Given the description of an element on the screen output the (x, y) to click on. 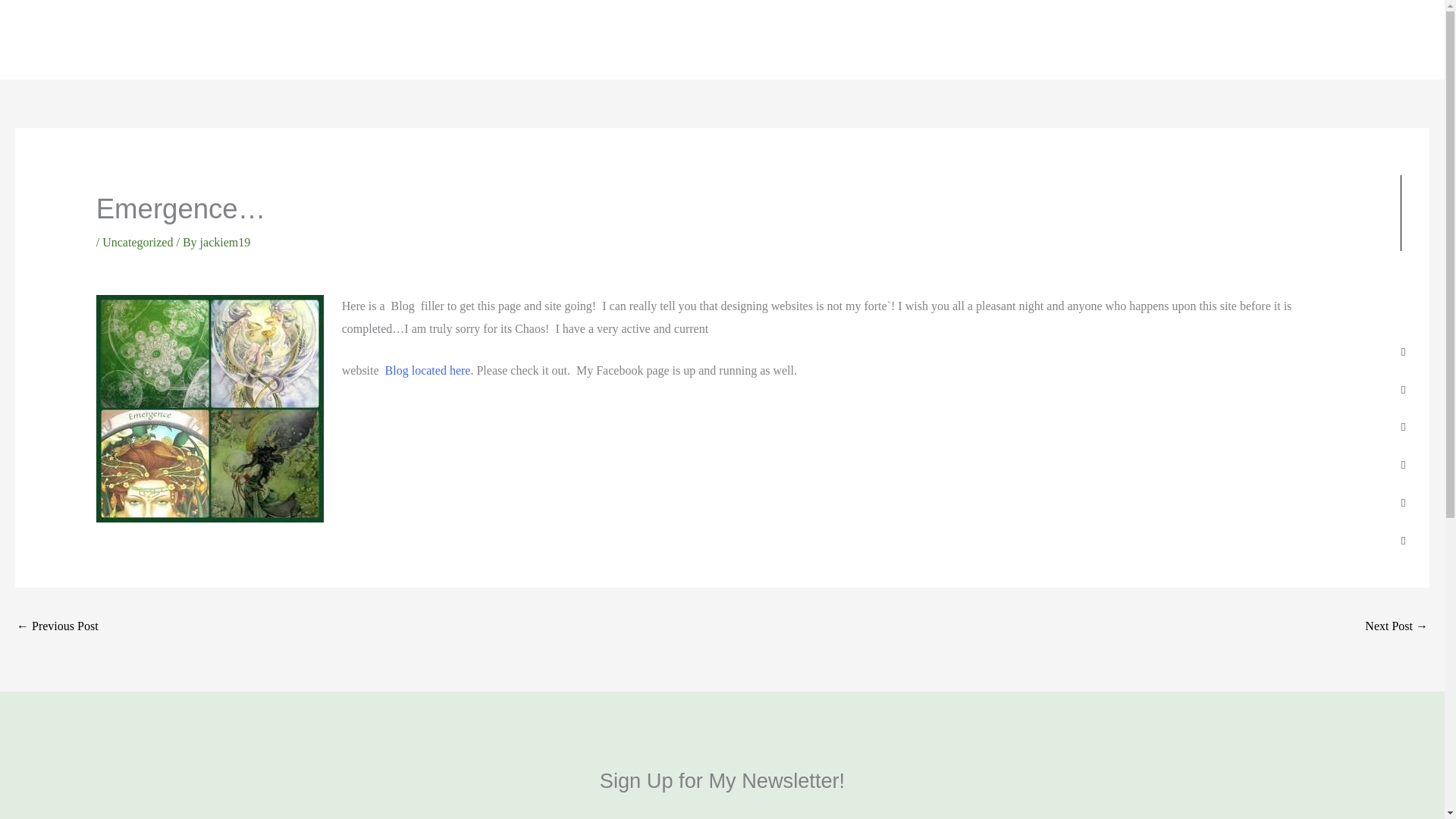
Facebook-square (1403, 351)
Pinterest (1403, 502)
Youtube (1403, 427)
PRIVACY (614, 41)
CONTACT (372, 41)
ABOUT ME (282, 41)
Instagram (1403, 541)
SERVICES (125, 41)
Linkedin (1403, 464)
